Given the description of an element on the screen output the (x, y) to click on. 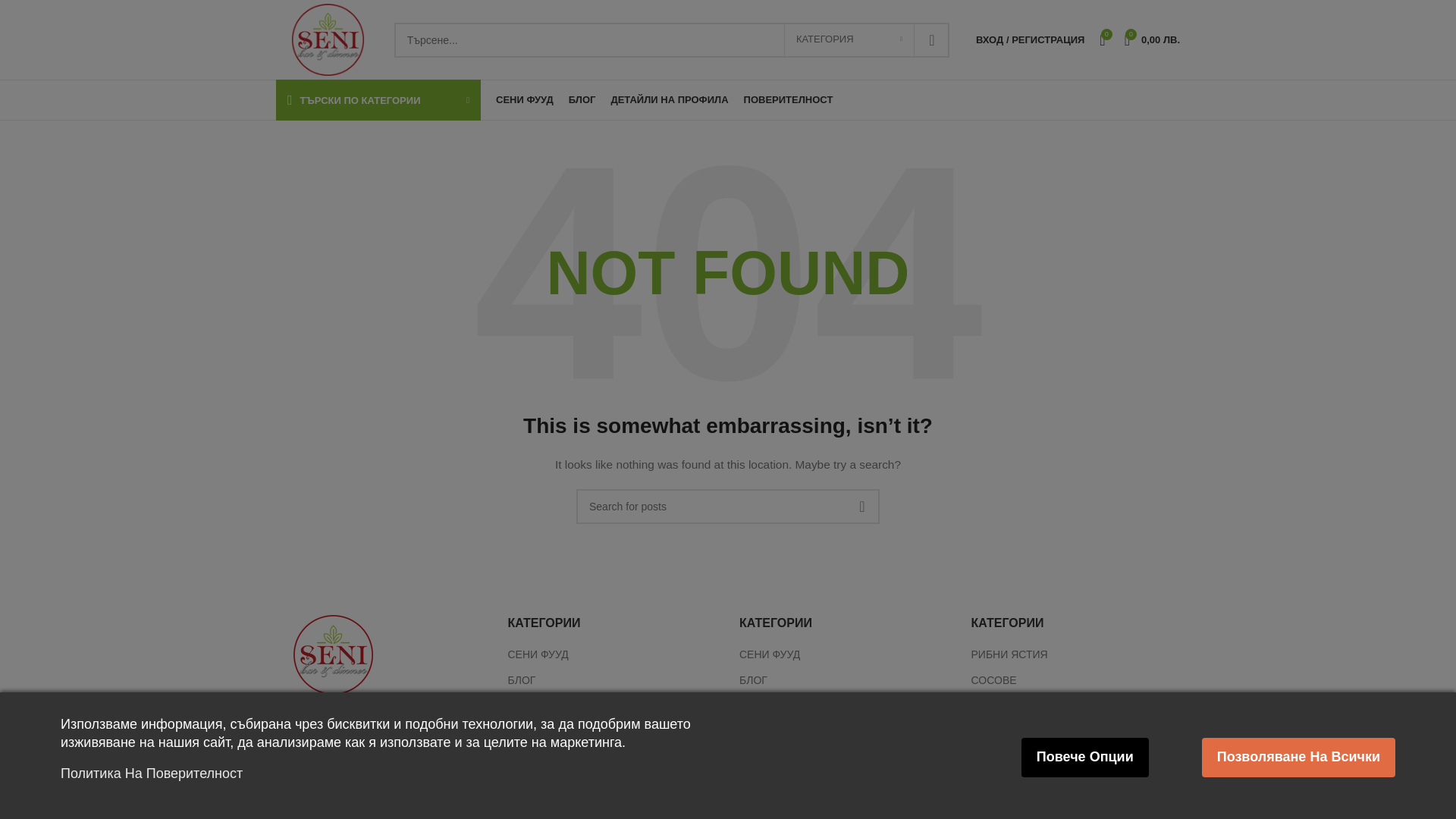
Search for posts (727, 506)
SEARCH (931, 39)
